Given the description of an element on the screen output the (x, y) to click on. 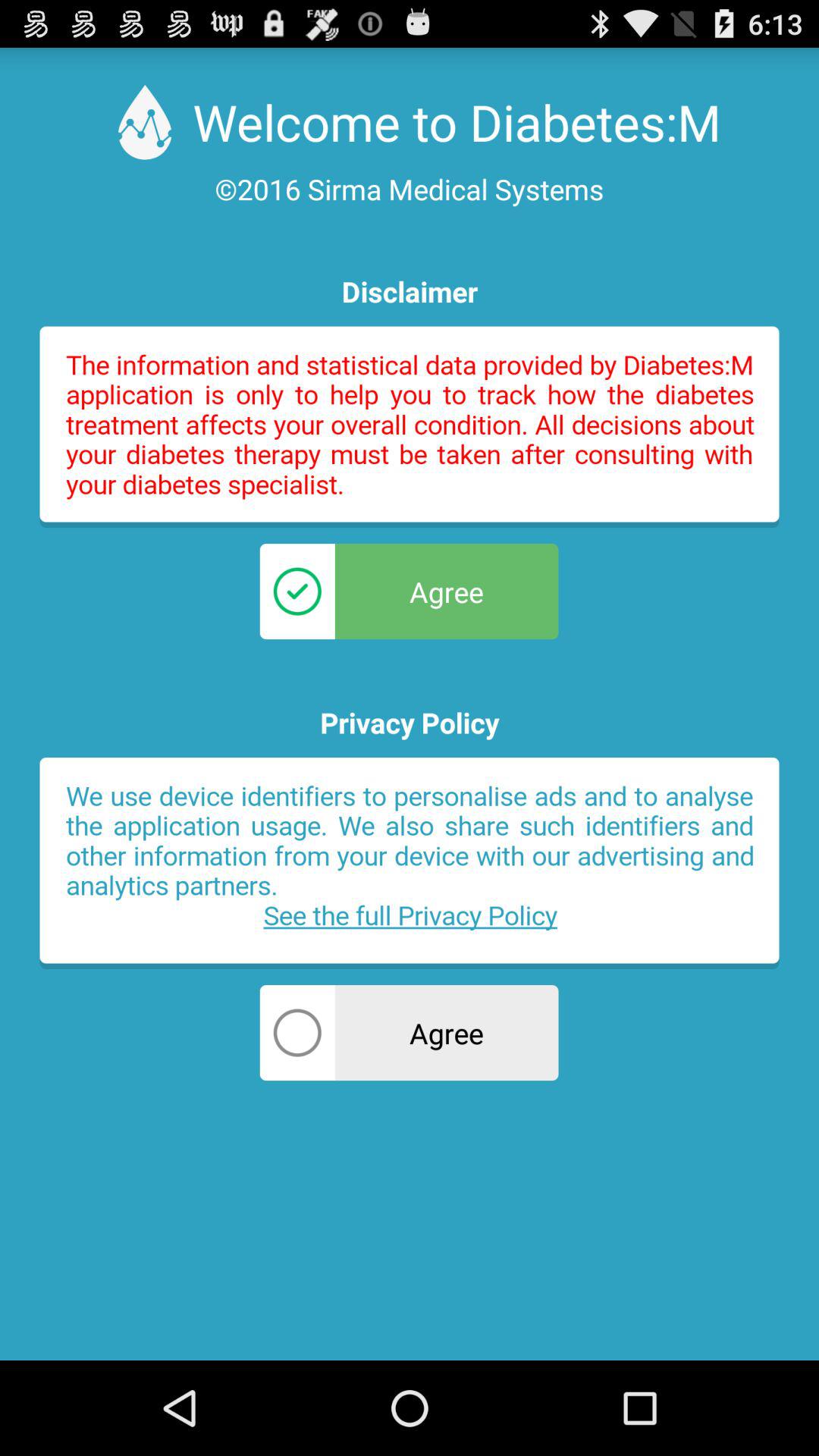
open disclaimer (409, 426)
